Given the description of an element on the screen output the (x, y) to click on. 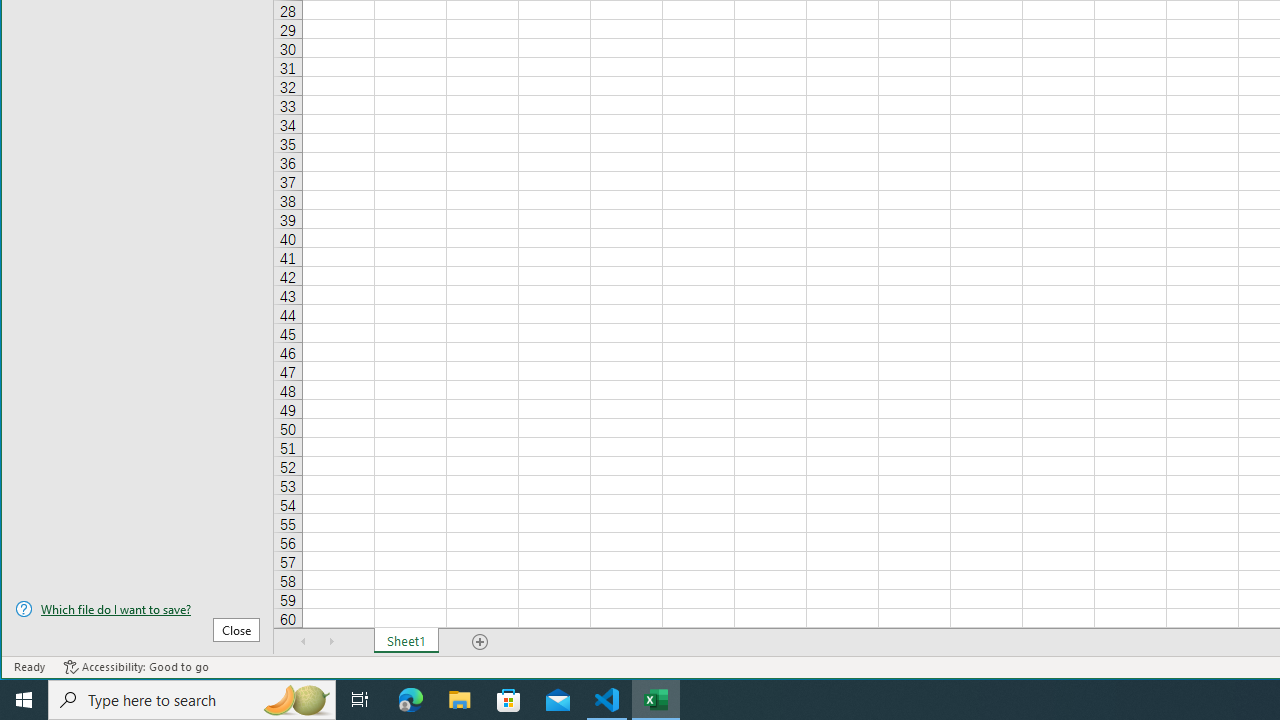
Scroll Left (303, 641)
Type here to search (191, 699)
